Given the description of an element on the screen output the (x, y) to click on. 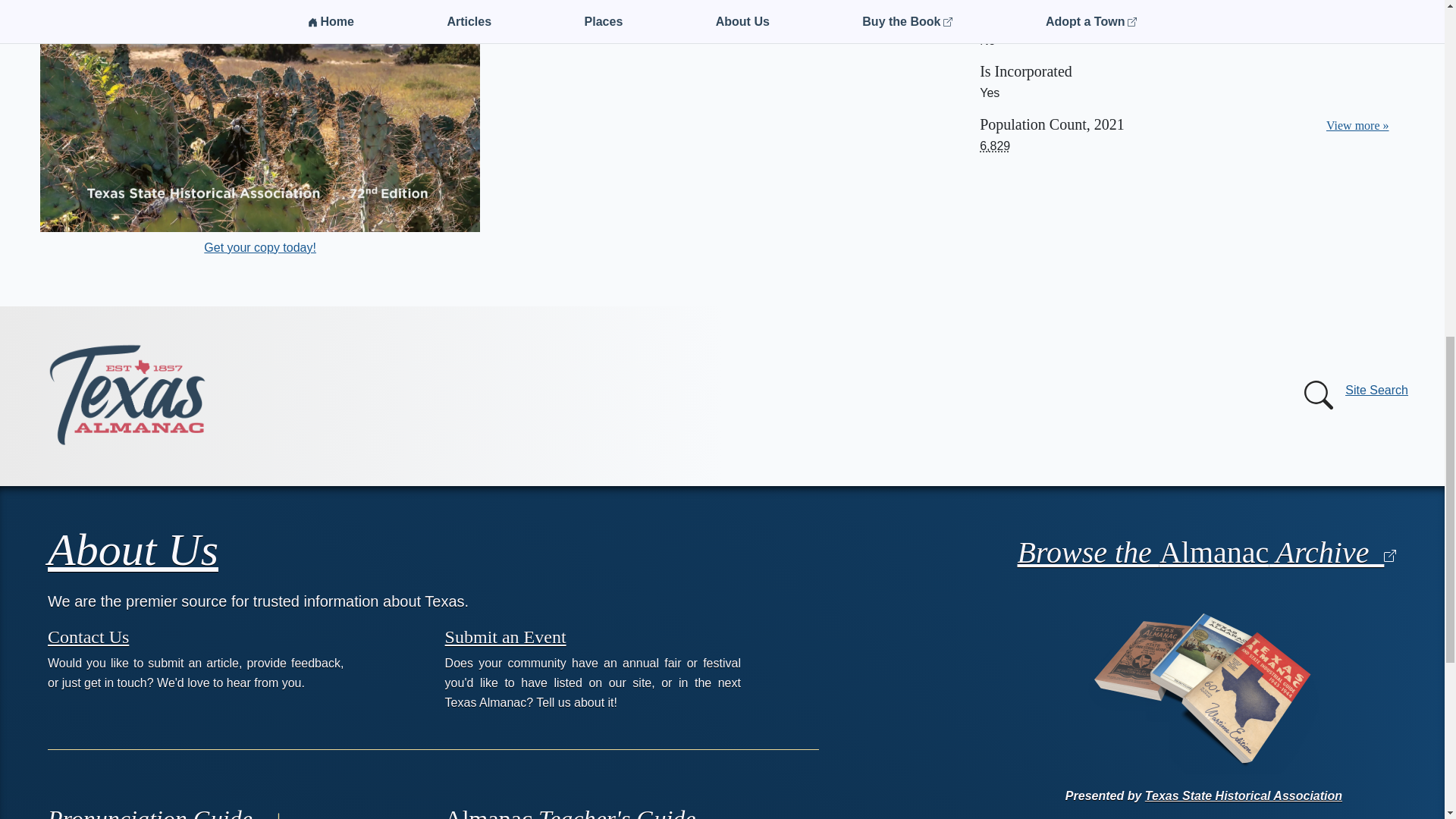
About Us (133, 549)
Submit an Event (505, 636)
2021, United States Census Bureau (994, 145)
Almanac Teacher's Guide (570, 812)
Contact Us (88, 636)
Site Search (1352, 394)
Get your copy today! (259, 246)
Pronunciation Guide (167, 812)
